Given the description of an element on the screen output the (x, y) to click on. 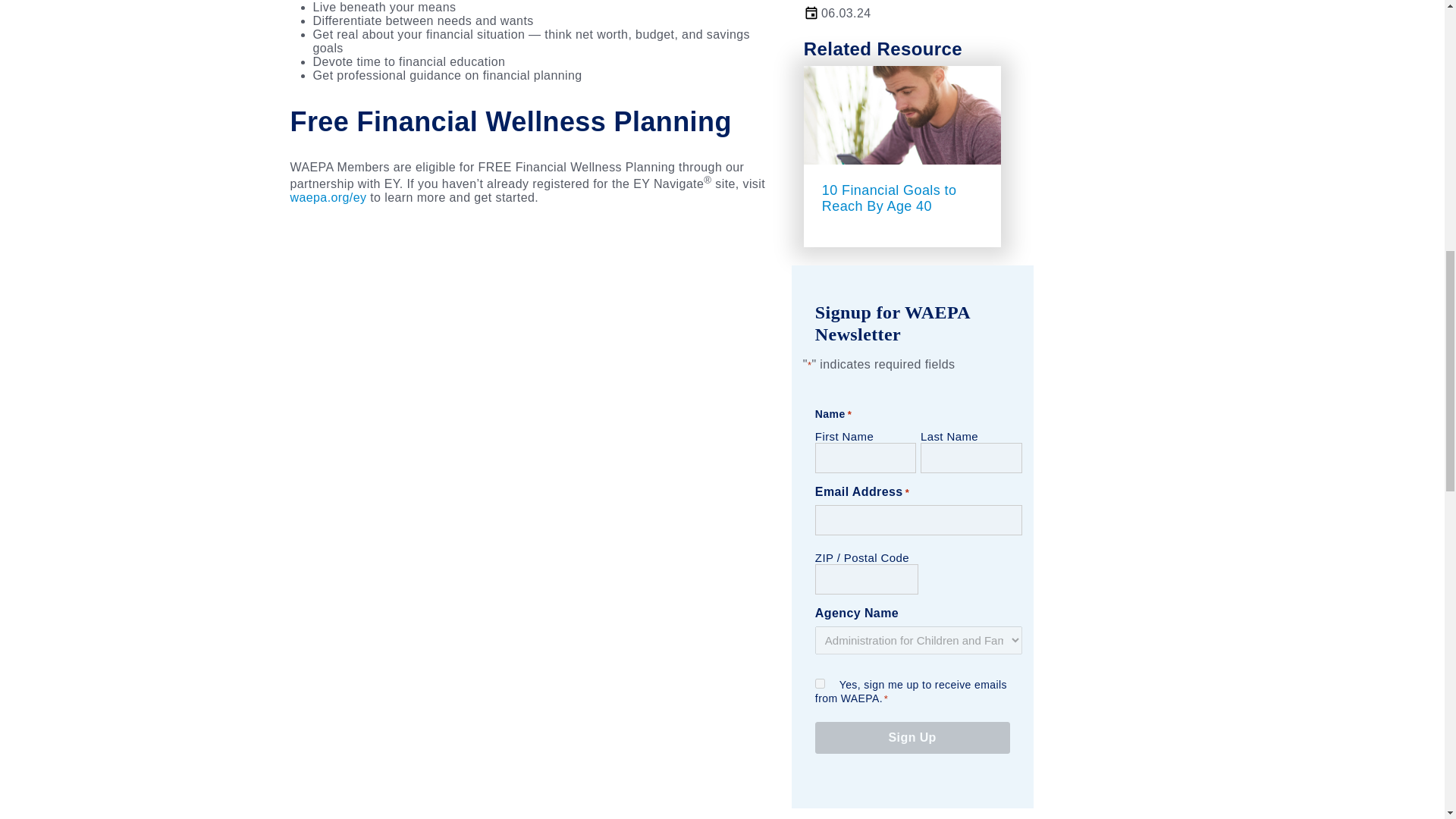
Sign Up (912, 737)
1 (820, 683)
